Given the description of an element on the screen output the (x, y) to click on. 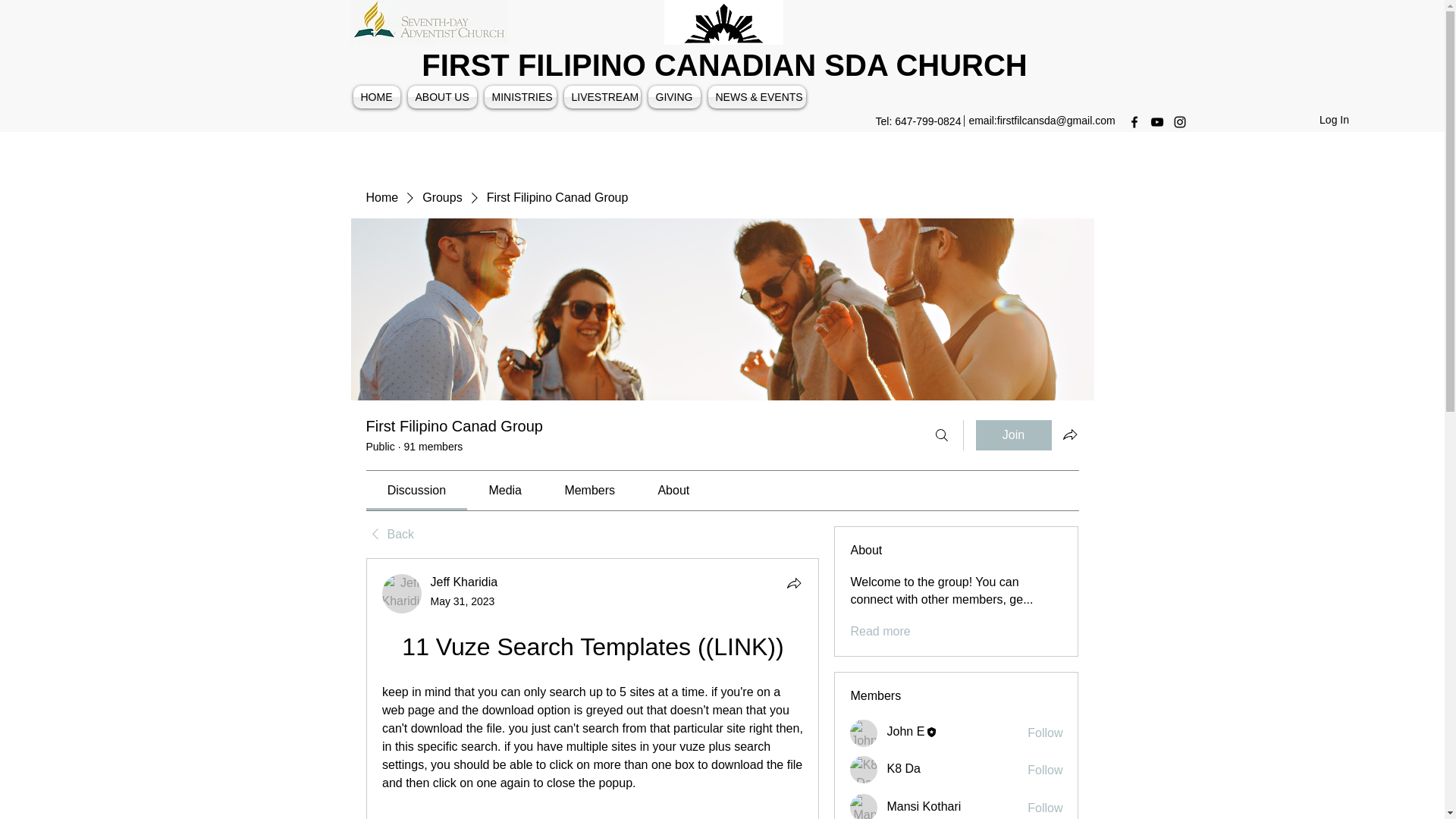
Follow (1044, 770)
ABOUT US (441, 96)
Home (381, 197)
Groups (441, 197)
John E (905, 730)
GIVING (674, 96)
Back (389, 534)
John E (863, 732)
Jeff Kharidia (401, 593)
FIRST FILIPINO CANADIAN SDA CHURCH (724, 64)
